Given the description of an element on the screen output the (x, y) to click on. 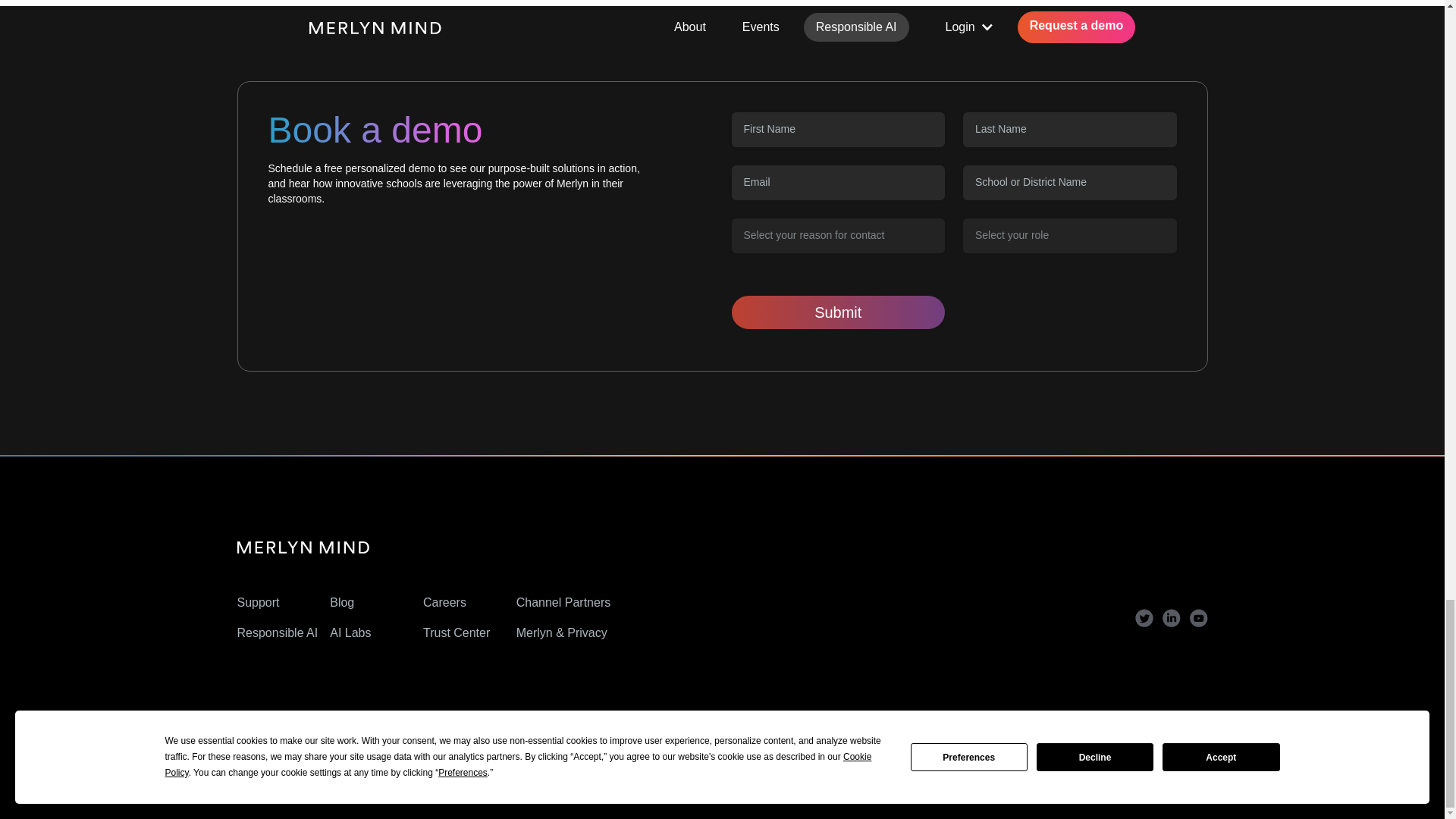
AI Labs (350, 633)
Submit (837, 312)
Responsible AI (276, 633)
Channel Partners (563, 602)
Submit (837, 312)
Careers (444, 602)
Support (257, 602)
Blog (341, 602)
Trust Center (456, 633)
